Given the description of an element on the screen output the (x, y) to click on. 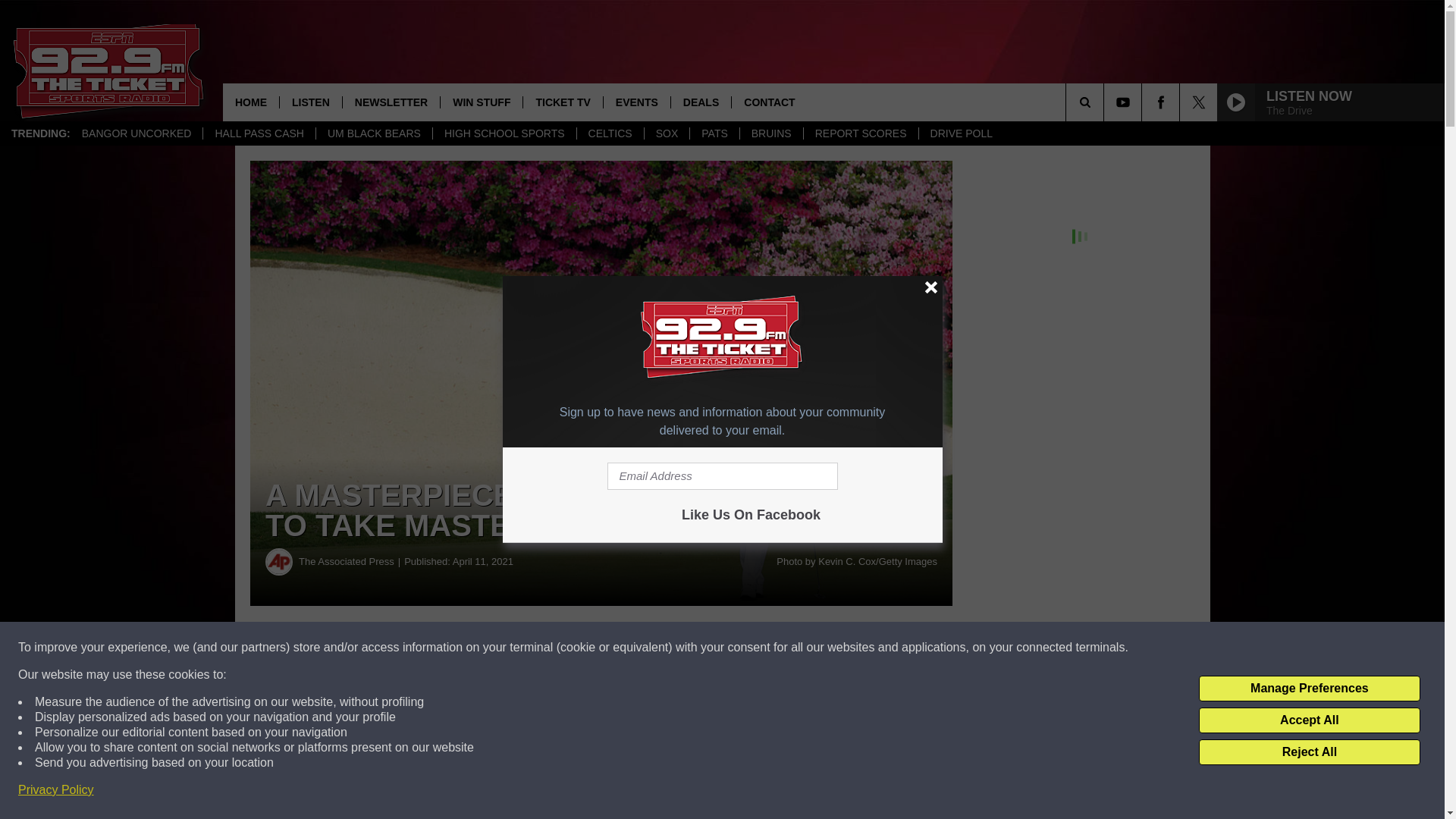
DEALS (699, 102)
WIN STUFF (480, 102)
Manage Preferences (1309, 688)
HIGH SCHOOL SPORTS (504, 133)
HOME (250, 102)
Share on Facebook (460, 647)
BRUINS (771, 133)
SEARCH (1106, 102)
PATS (713, 133)
Share on Twitter (741, 647)
CONTACT (768, 102)
Privacy Policy (55, 789)
SEARCH (1106, 102)
Accept All (1309, 720)
Email Address (722, 475)
